Given the description of an element on the screen output the (x, y) to click on. 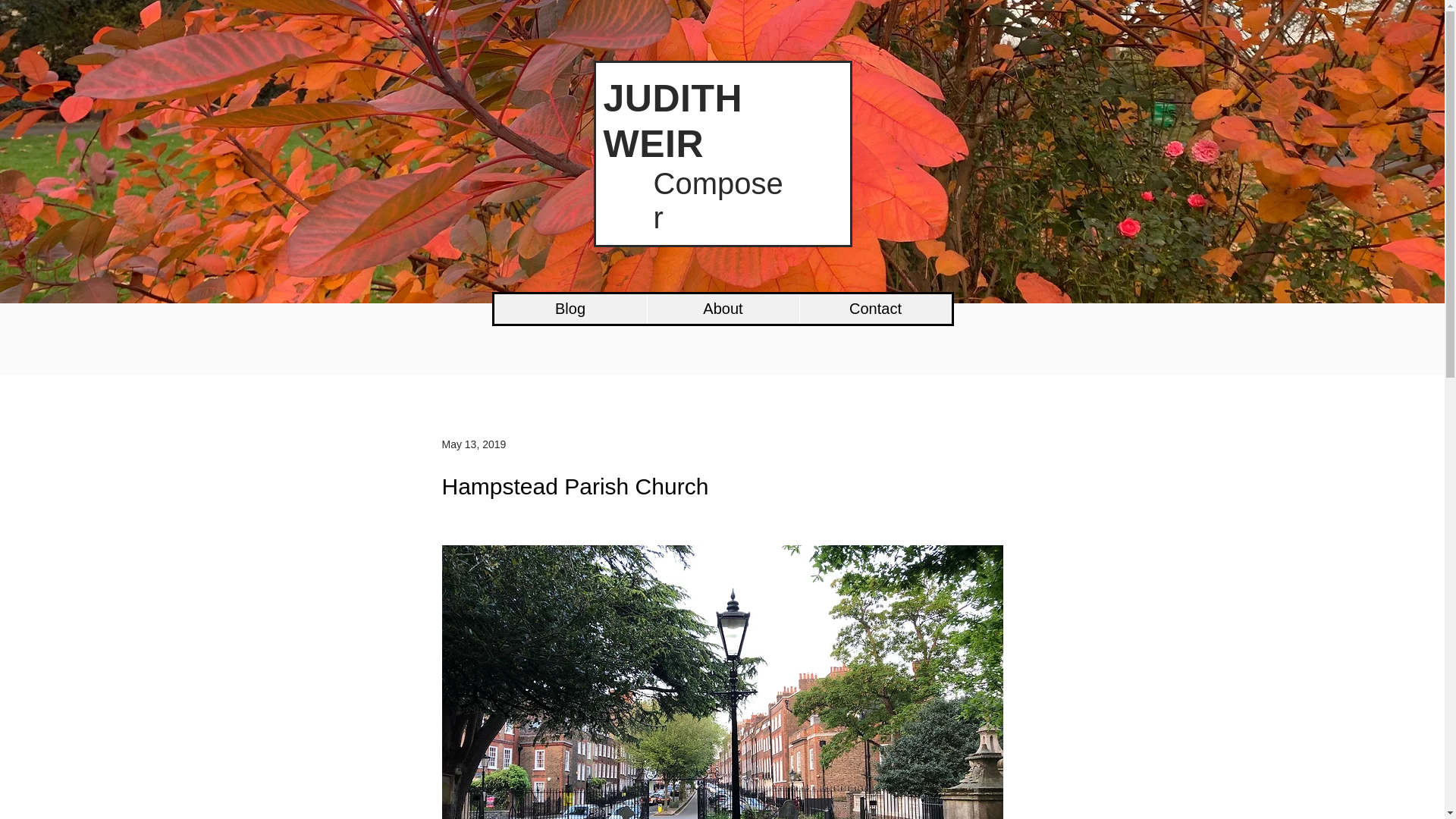
Contact (875, 308)
May 13, 2019 (473, 444)
About (721, 308)
Blog (570, 308)
